Given the description of an element on the screen output the (x, y) to click on. 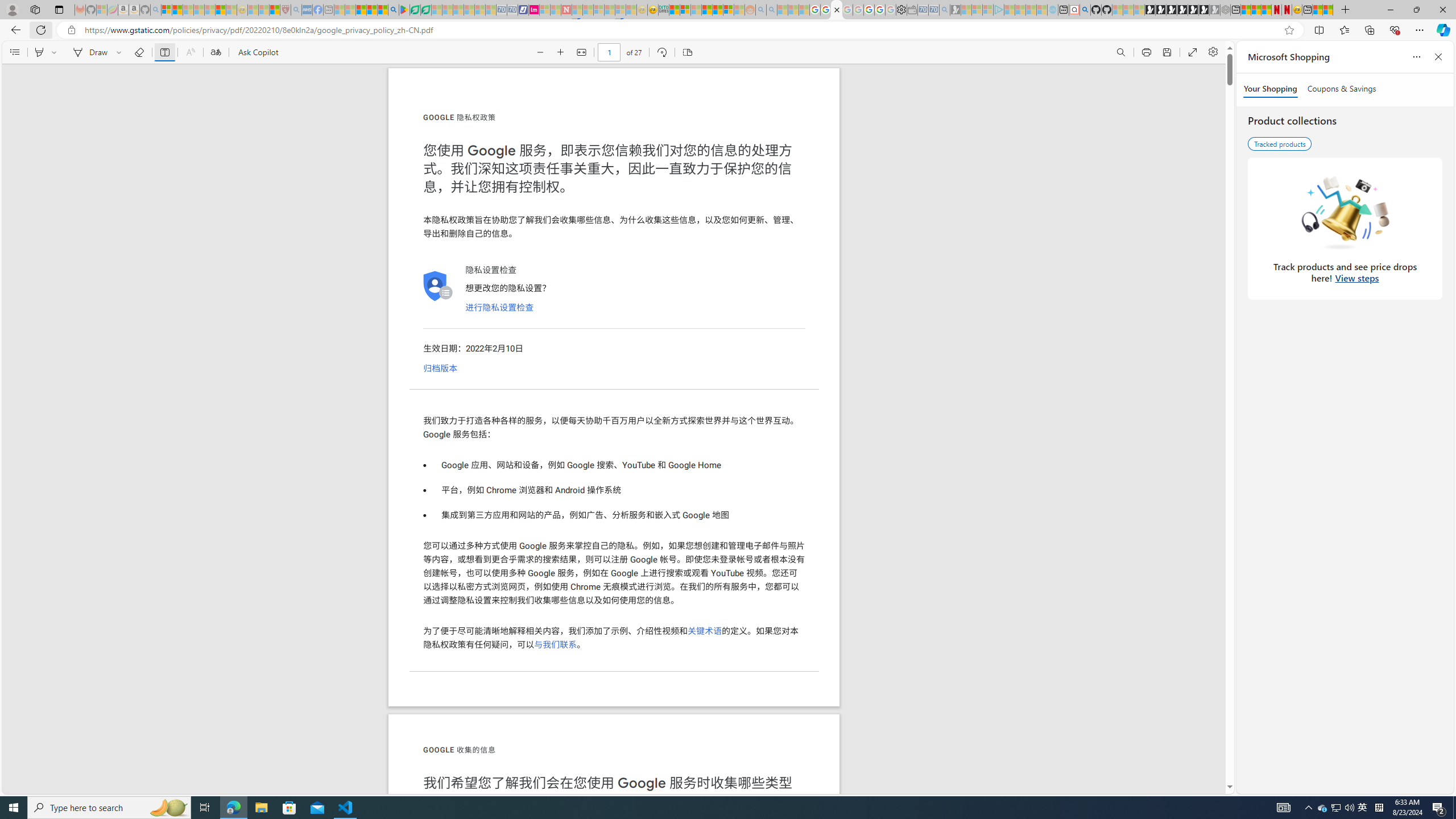
Wildlife - MSN (1317, 9)
Translate (215, 52)
Kinda Frugal - MSN (717, 9)
Pets - MSN (371, 9)
Rotate (Ctrl+]) (661, 52)
